Given the description of an element on the screen output the (x, y) to click on. 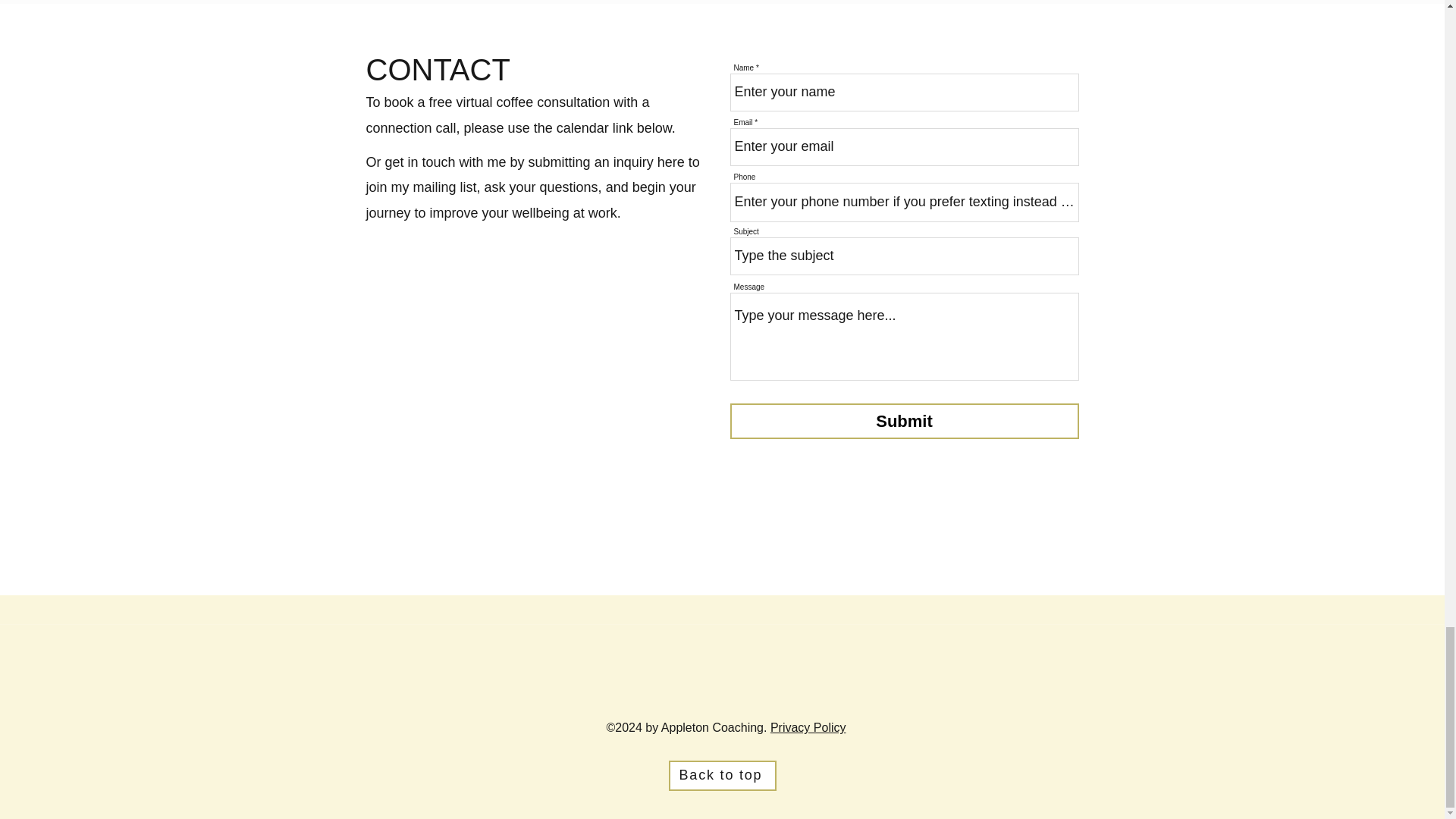
Submit (903, 420)
Back to top (722, 775)
Privacy Policy (807, 727)
